Given the description of an element on the screen output the (x, y) to click on. 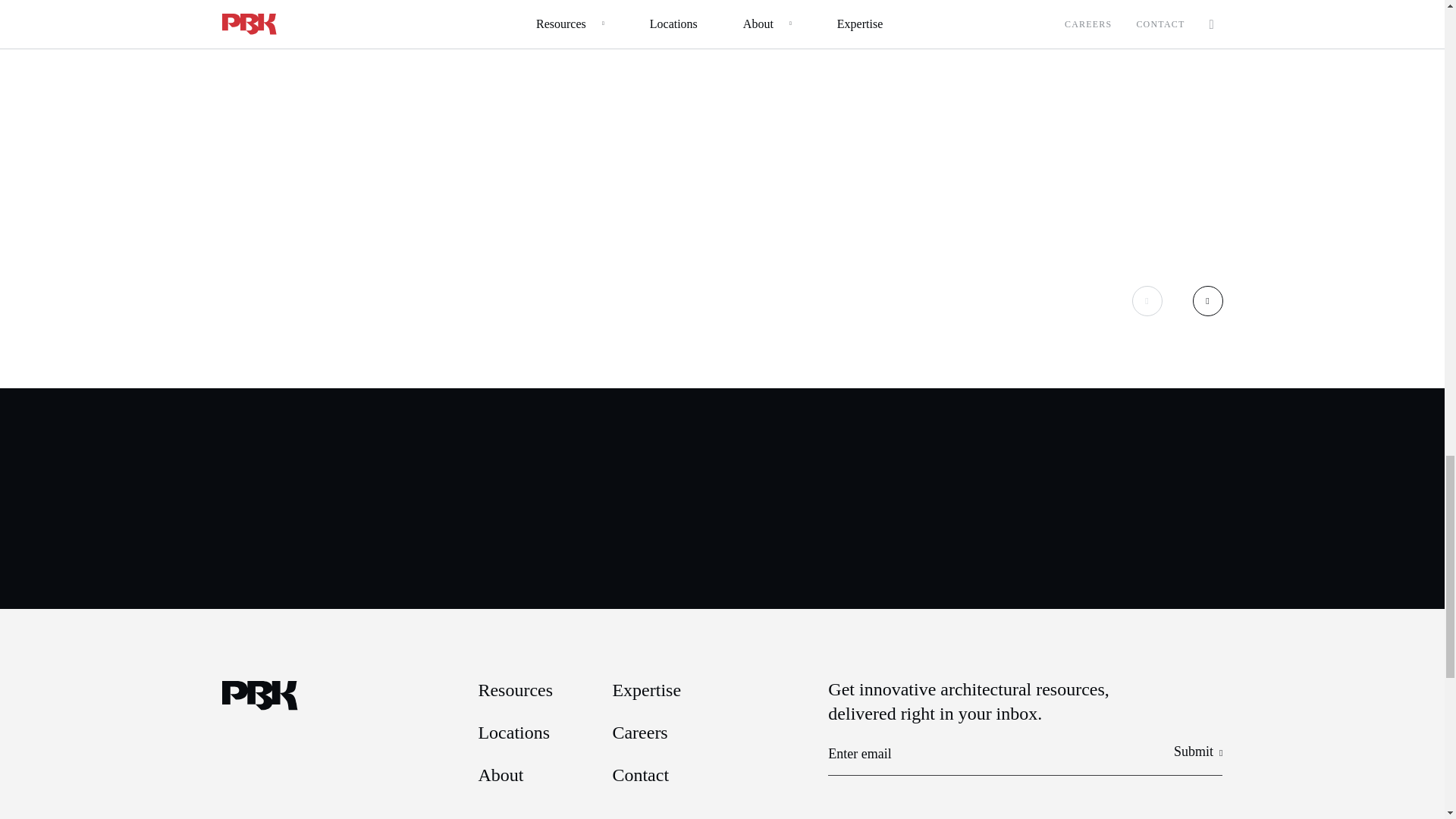
Expertise (646, 690)
Locations (513, 732)
Resources (515, 690)
Careers (638, 732)
Submit (1198, 751)
Contact (639, 774)
About (499, 774)
